Given the description of an element on the screen output the (x, y) to click on. 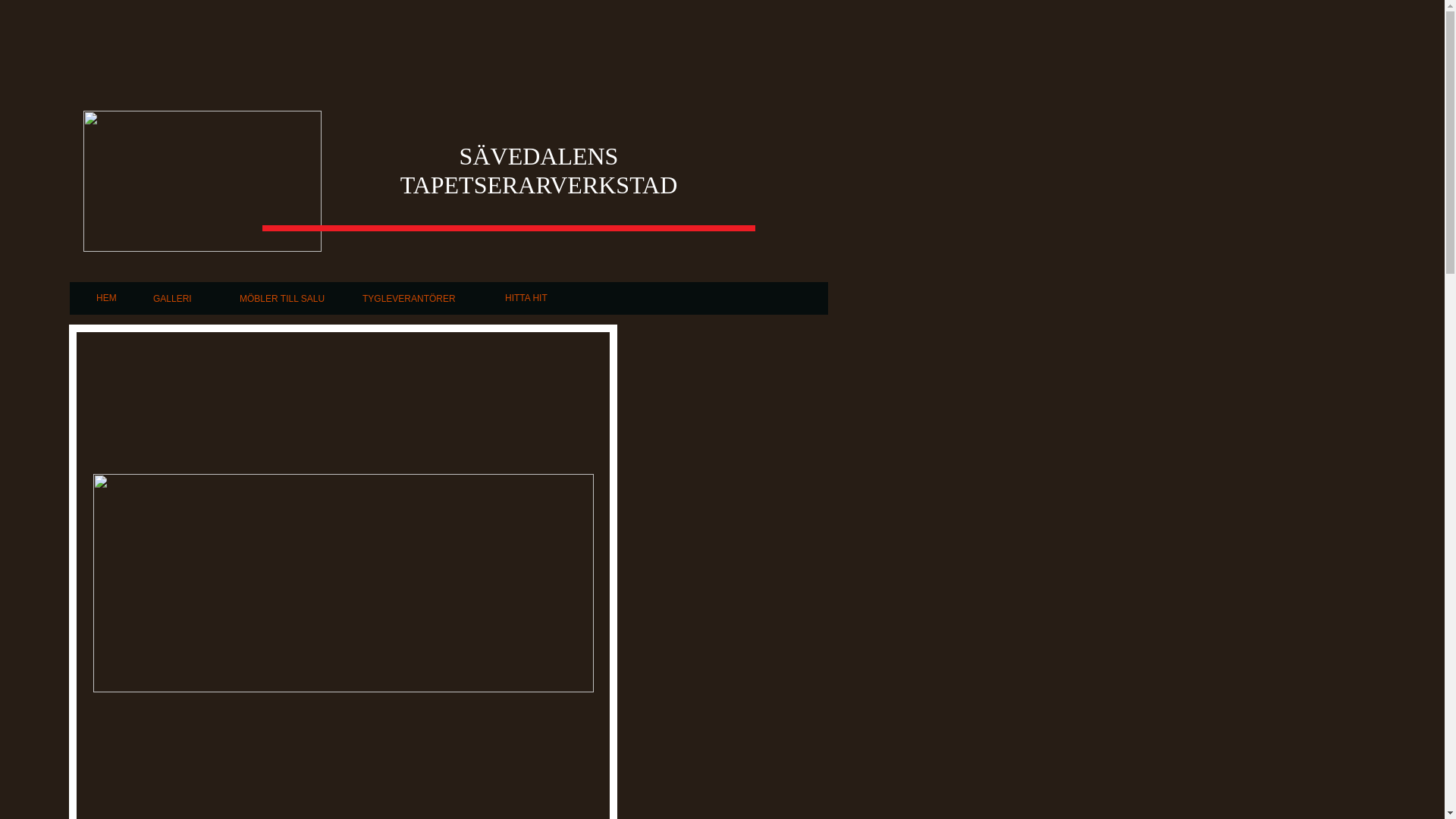
HEM Element type: text (106, 297)
GALLERI Element type: text (172, 298)
HITTA HIT Element type: text (526, 297)
